Given the description of an element on the screen output the (x, y) to click on. 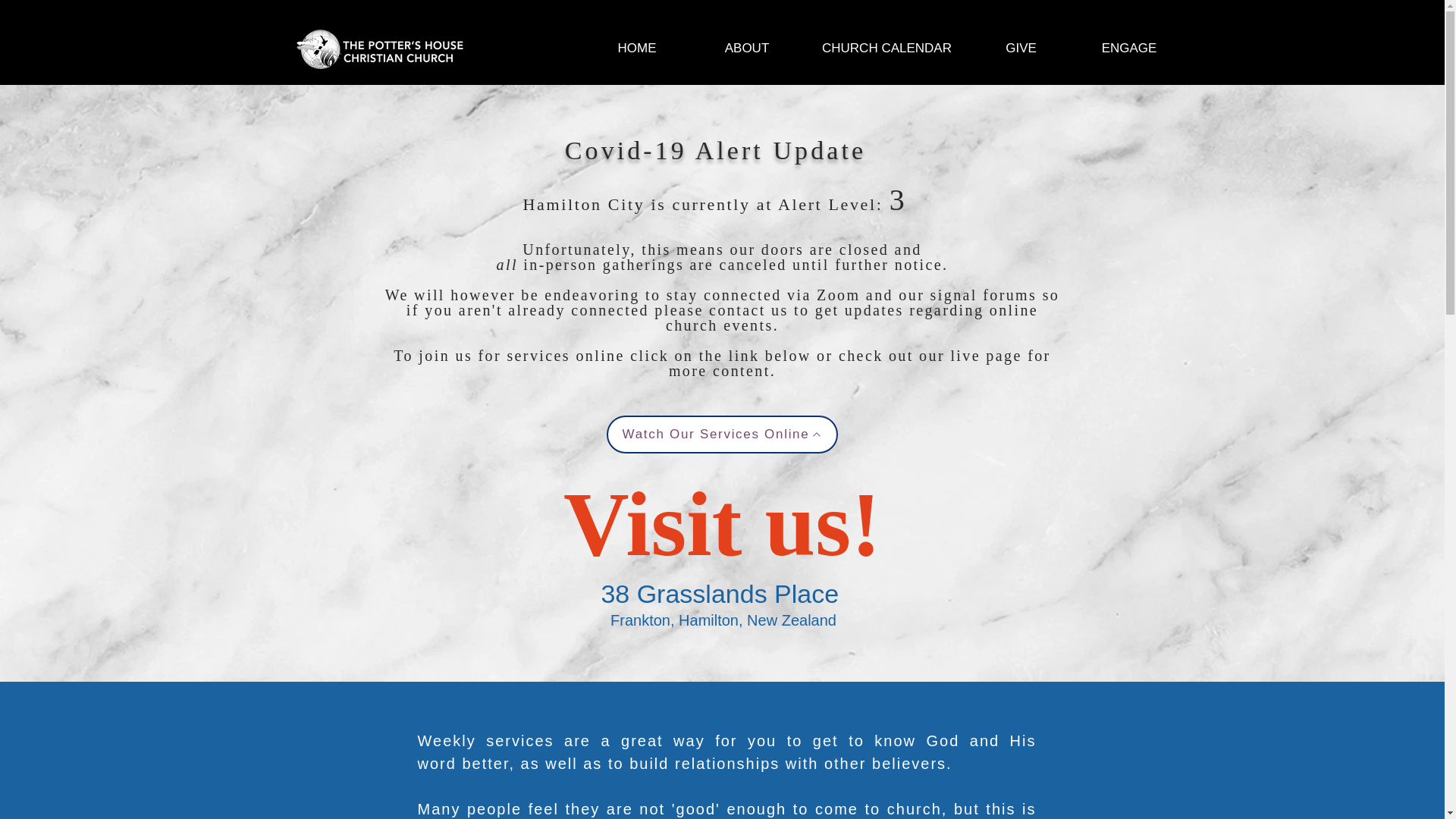
ABOUT (746, 48)
HOME (636, 48)
CHURCH CALENDAR (885, 48)
GIVE (1021, 48)
Watch Our Services Online (722, 434)
